Given the description of an element on the screen output the (x, y) to click on. 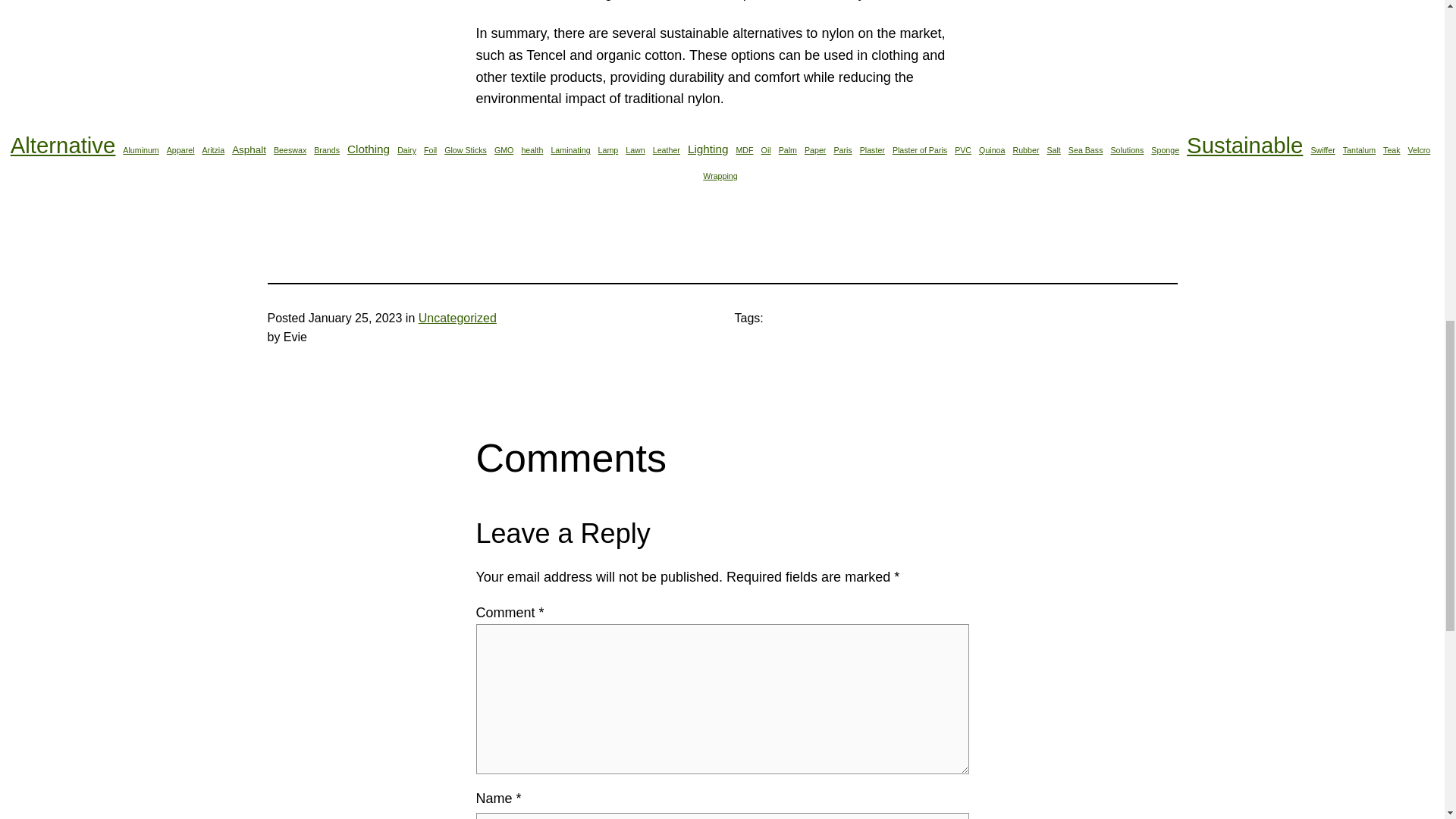
Salt (1052, 150)
Alternative (63, 145)
Sea Bass (1085, 150)
Sustainable (1244, 145)
Laminating (569, 150)
Foil (429, 150)
Beeswax (289, 150)
Lamp (608, 150)
Glow Sticks (465, 150)
Asphalt (248, 149)
Dairy (406, 150)
Swiffer (1322, 150)
Teak (1391, 150)
Leather (665, 150)
Aluminum (140, 150)
